Given the description of an element on the screen output the (x, y) to click on. 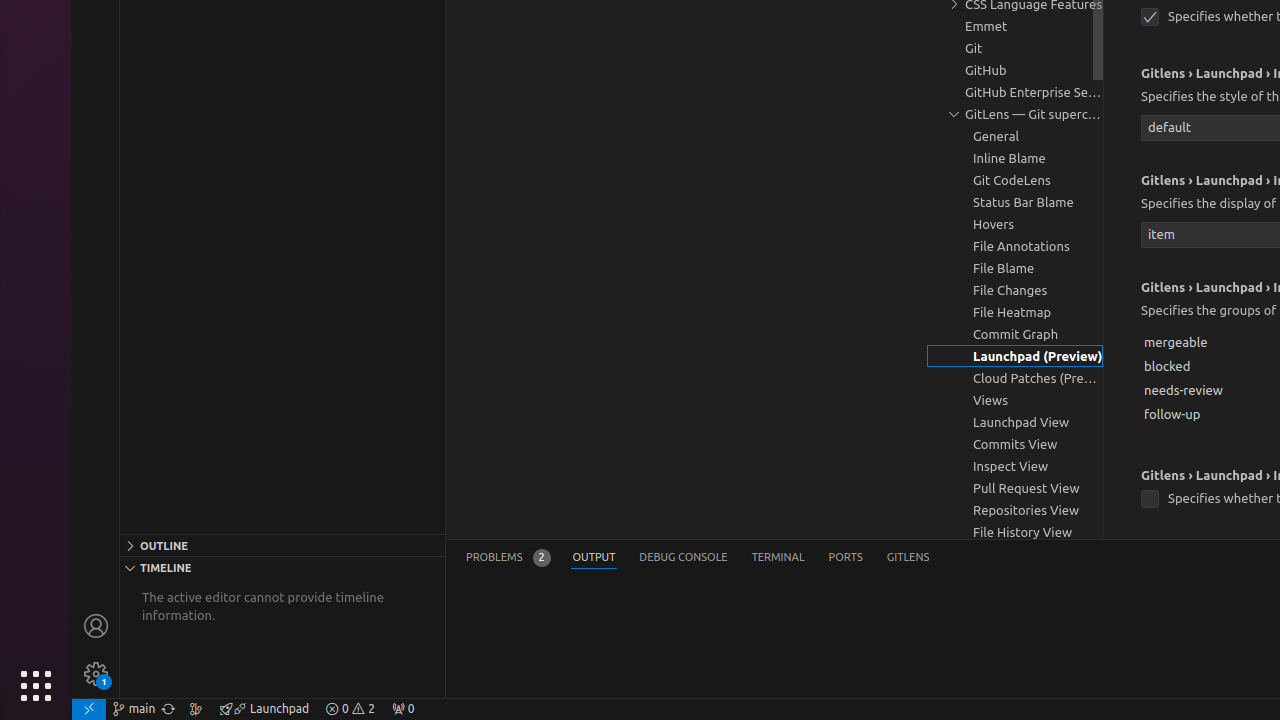
Output (Ctrl+K Ctrl+H) Element type: page-tab (594, 557)
Timeline Section Element type: push-button (282, 567)
Active View Switcher Element type: page-tab-list (698, 557)
More Actions... (Shift+F9) Element type: push-button (1116, 473)
GitLens Element type: page-tab (908, 557)
